Given the description of an element on the screen output the (x, y) to click on. 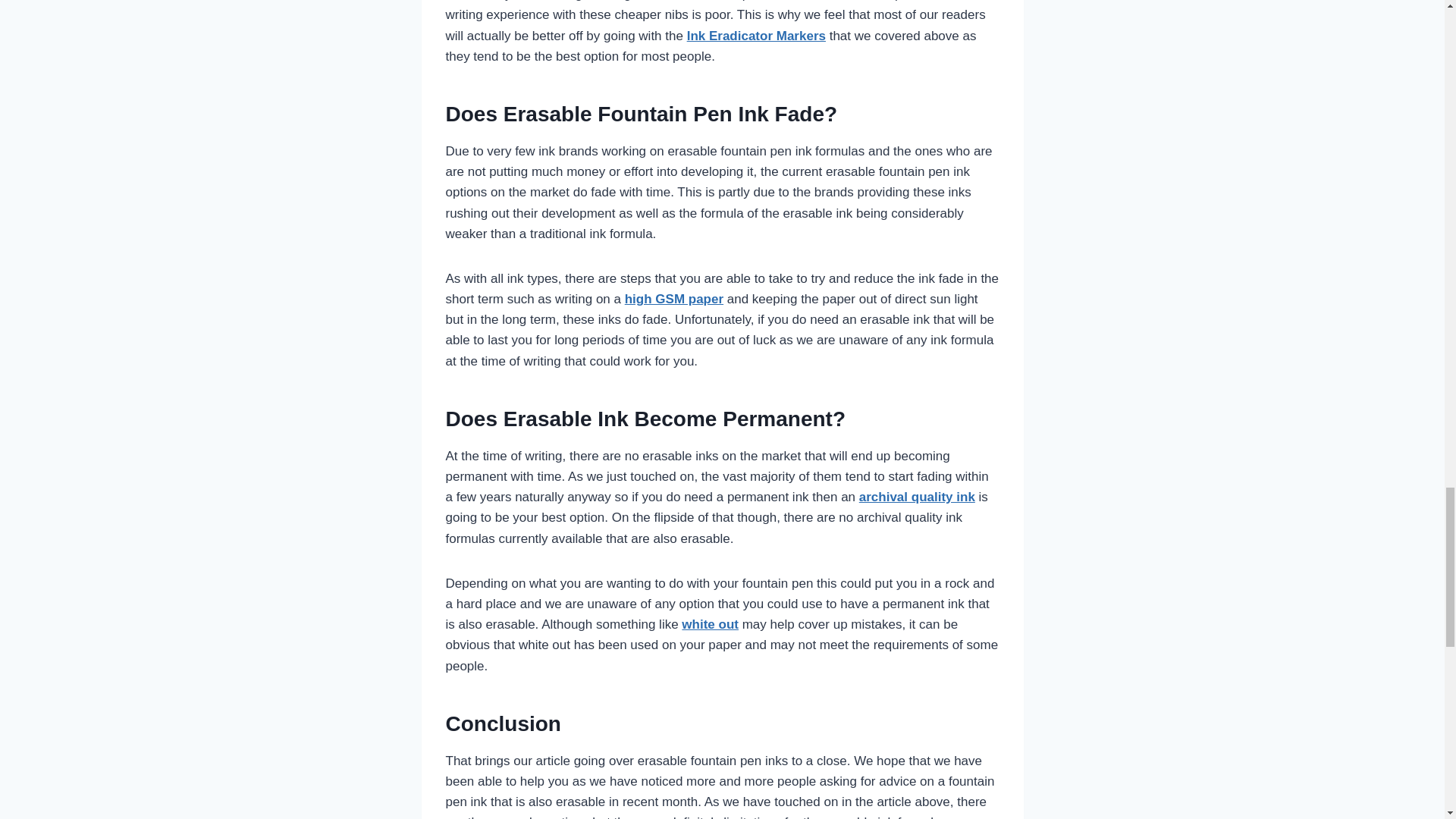
Ink Eradicator Markers (756, 35)
high GSM paper (673, 298)
high GSM paper (673, 298)
white out (709, 624)
white out (709, 624)
archival quality ink (917, 496)
Ink Eradicator Markers (756, 35)
archival quality ink (917, 496)
